Given the description of an element on the screen output the (x, y) to click on. 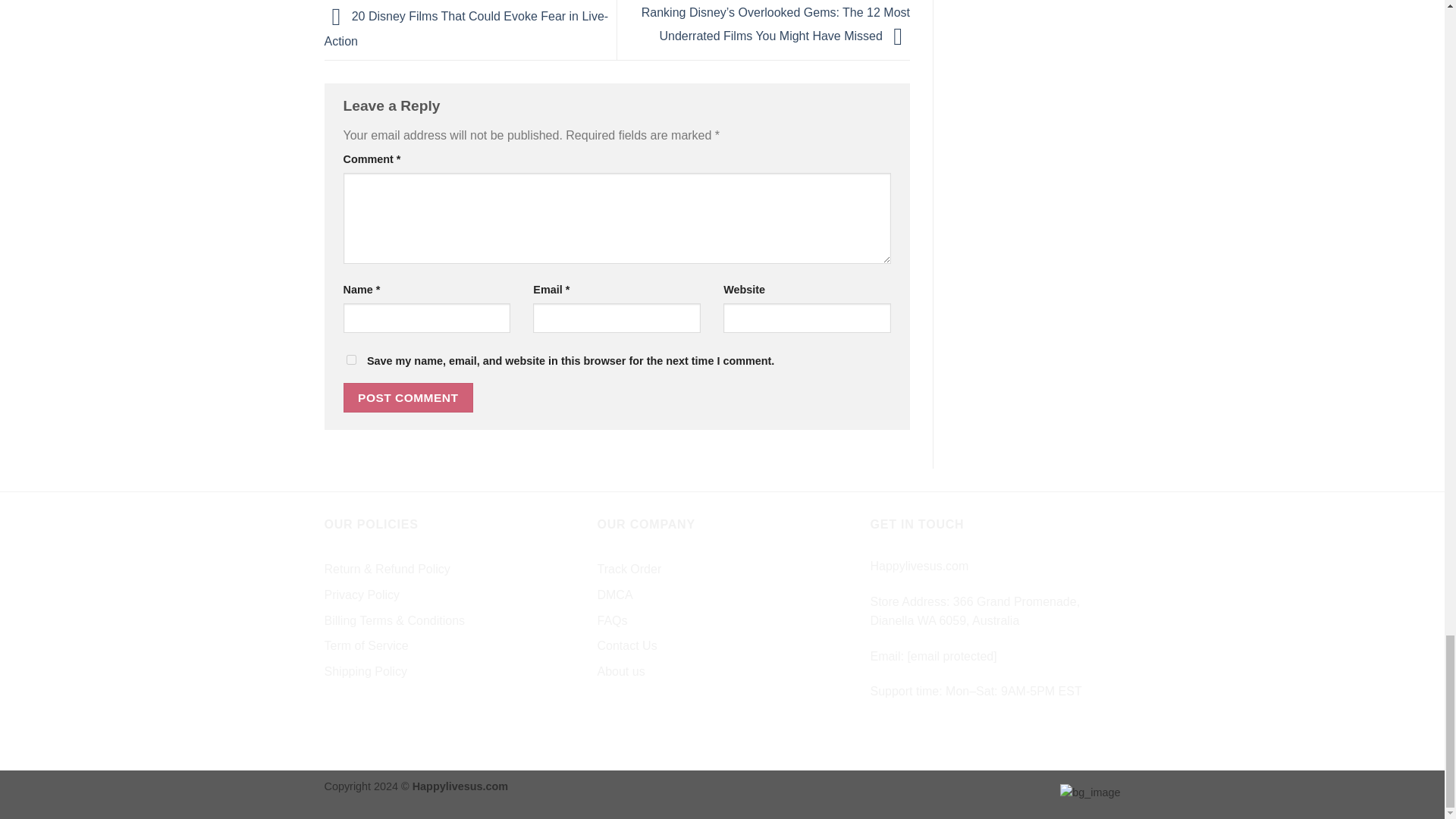
Post Comment (407, 397)
yes (350, 359)
Post Comment (407, 397)
20 Disney Films That Could Evoke Fear in Live-Action (466, 29)
